Given the description of an element on the screen output the (x, y) to click on. 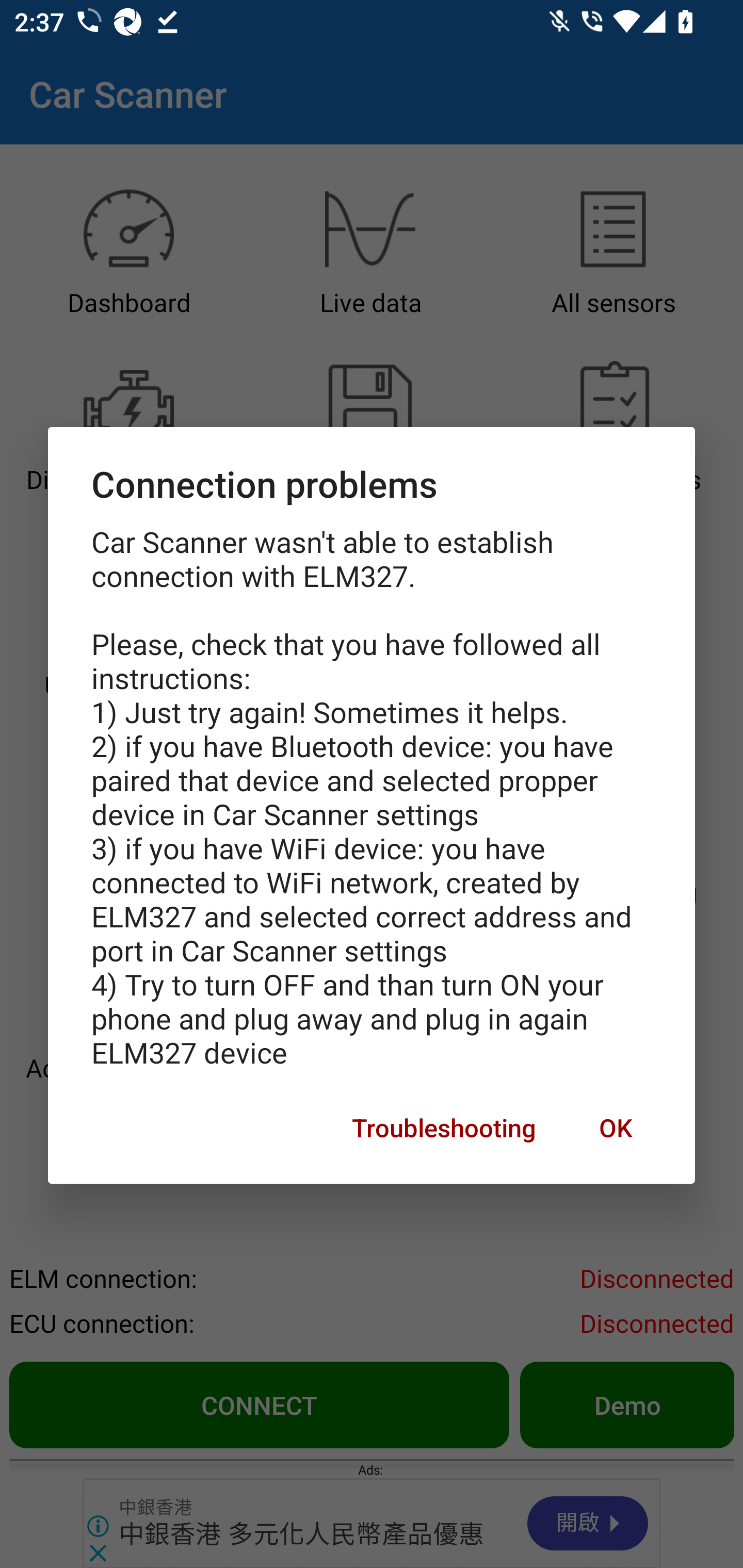
Troubleshooting (443, 1127)
OK (615, 1127)
